Given the description of an element on the screen output the (x, y) to click on. 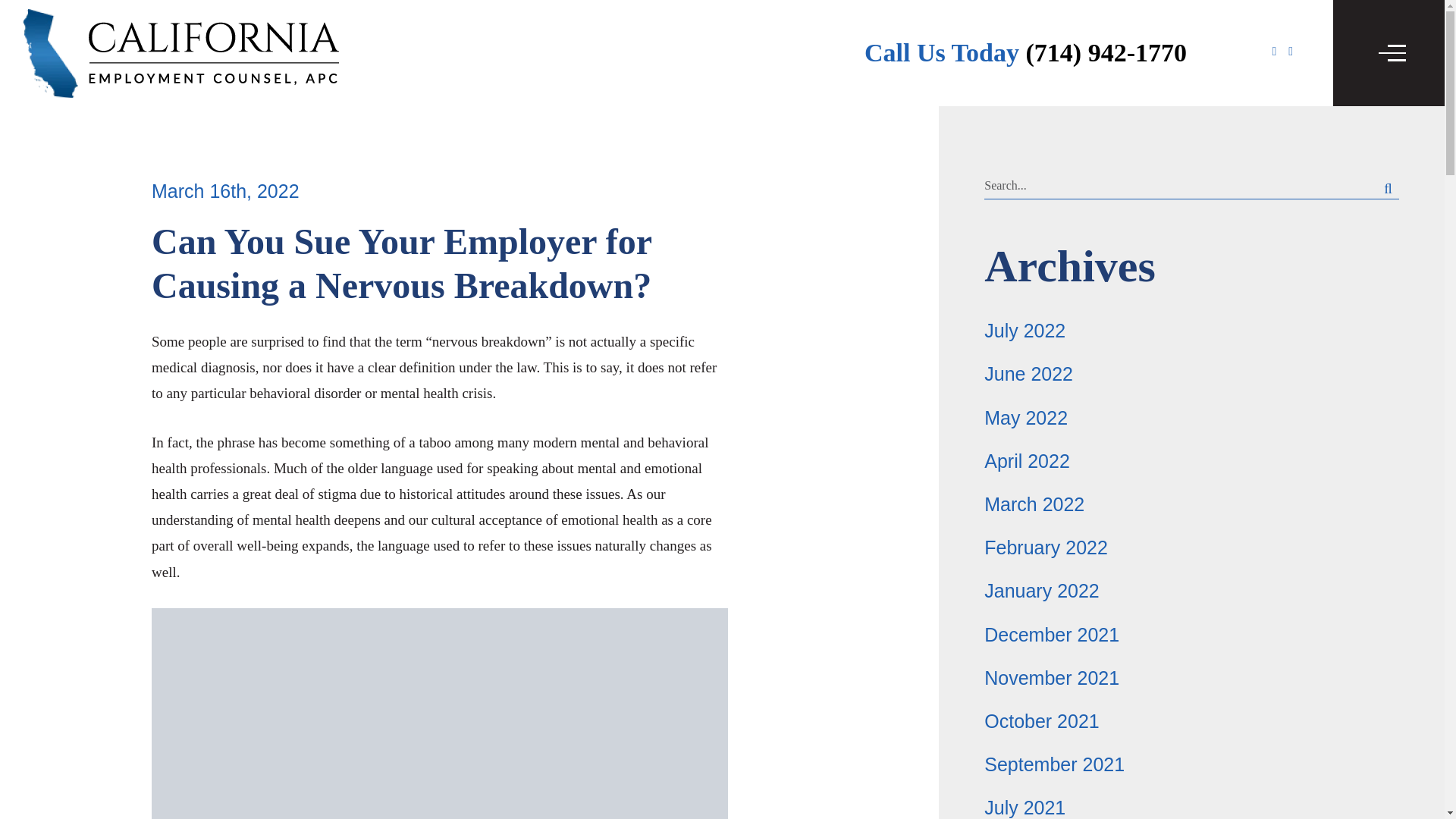
May 2022 (1025, 417)
July 2021 (1024, 807)
January 2022 (1041, 590)
February 2022 (1046, 547)
March 2022 (1034, 504)
December 2021 (1051, 633)
November 2021 (1051, 677)
June 2022 (1028, 373)
July 2022 (1024, 330)
October 2021 (1041, 721)
September 2021 (1054, 763)
April 2022 (1027, 460)
